Given the description of an element on the screen output the (x, y) to click on. 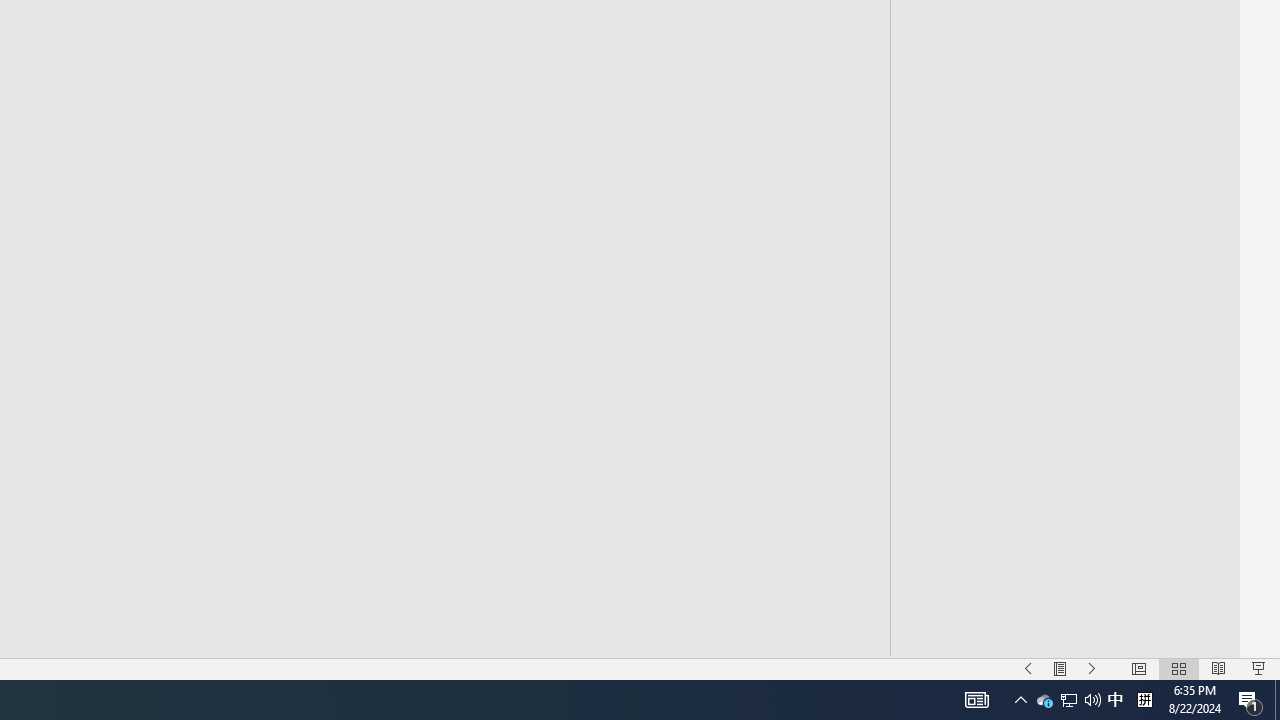
Menu On (1060, 668)
Slide Show Previous On (1028, 668)
Slide Show Next On (1092, 668)
